Given the description of an element on the screen output the (x, y) to click on. 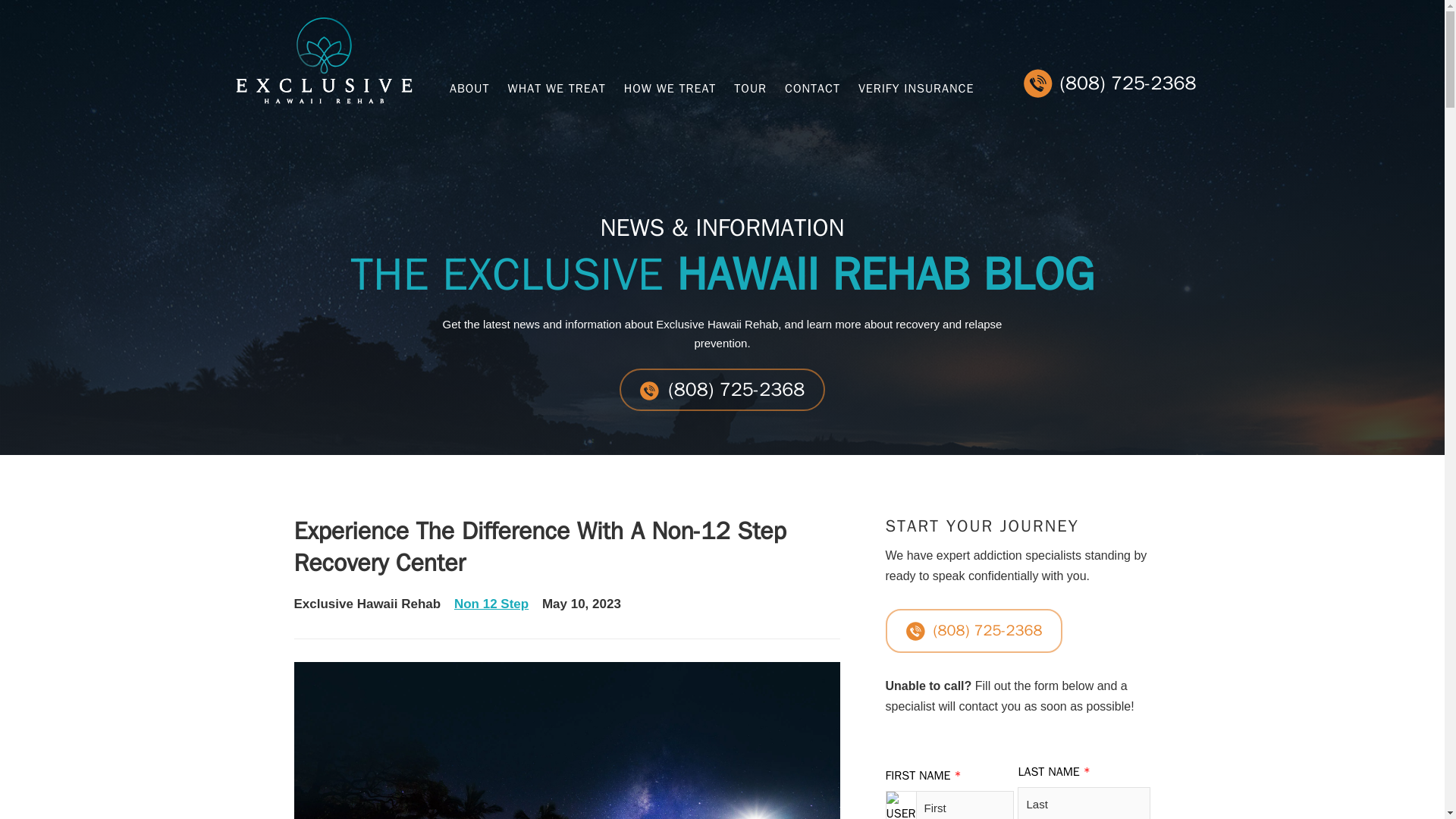
ABOUT (469, 88)
WHAT WE TREAT (556, 88)
